Given the description of an element on the screen output the (x, y) to click on. 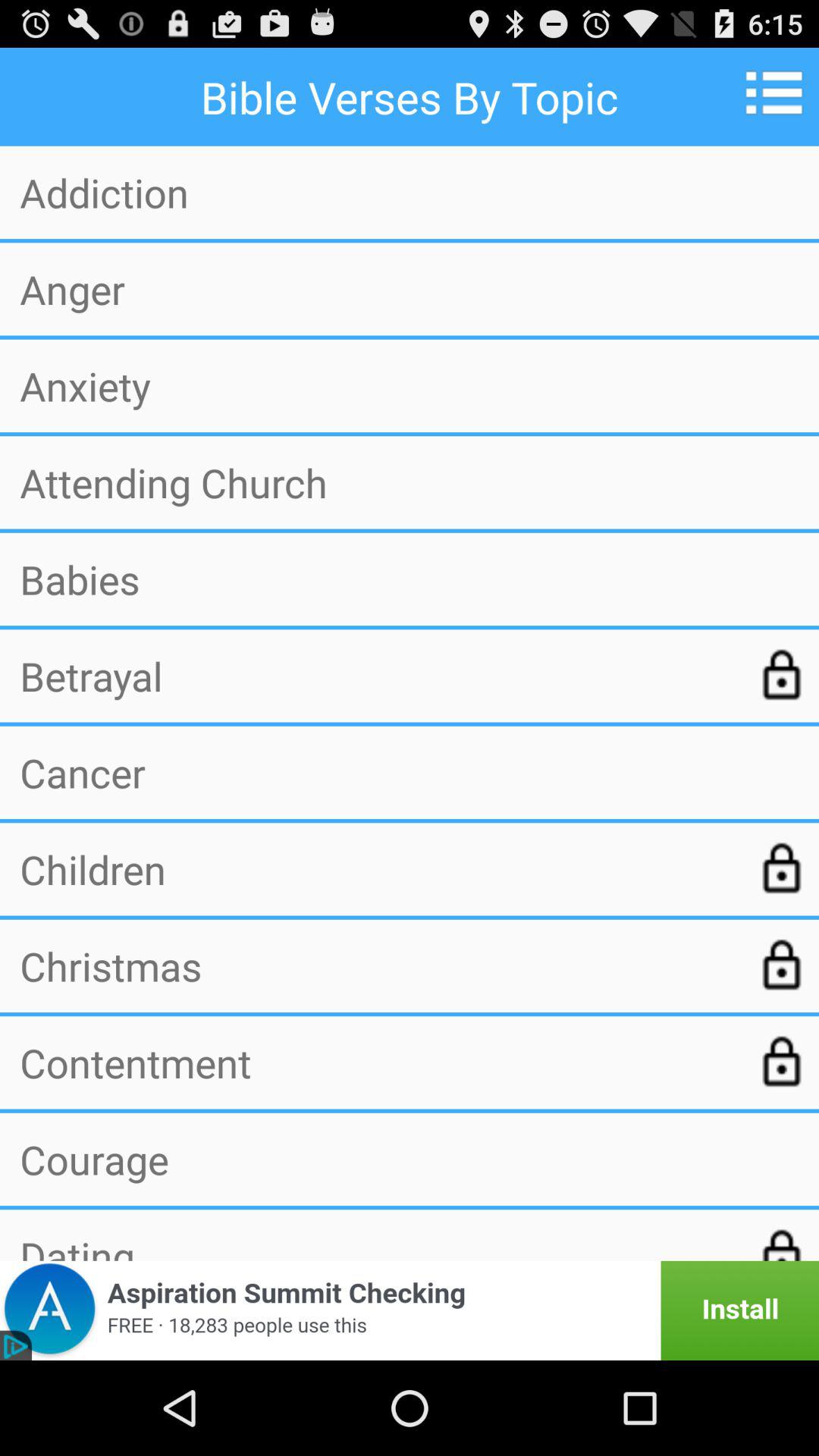
turn on dating icon (376, 1244)
